Given the description of an element on the screen output the (x, y) to click on. 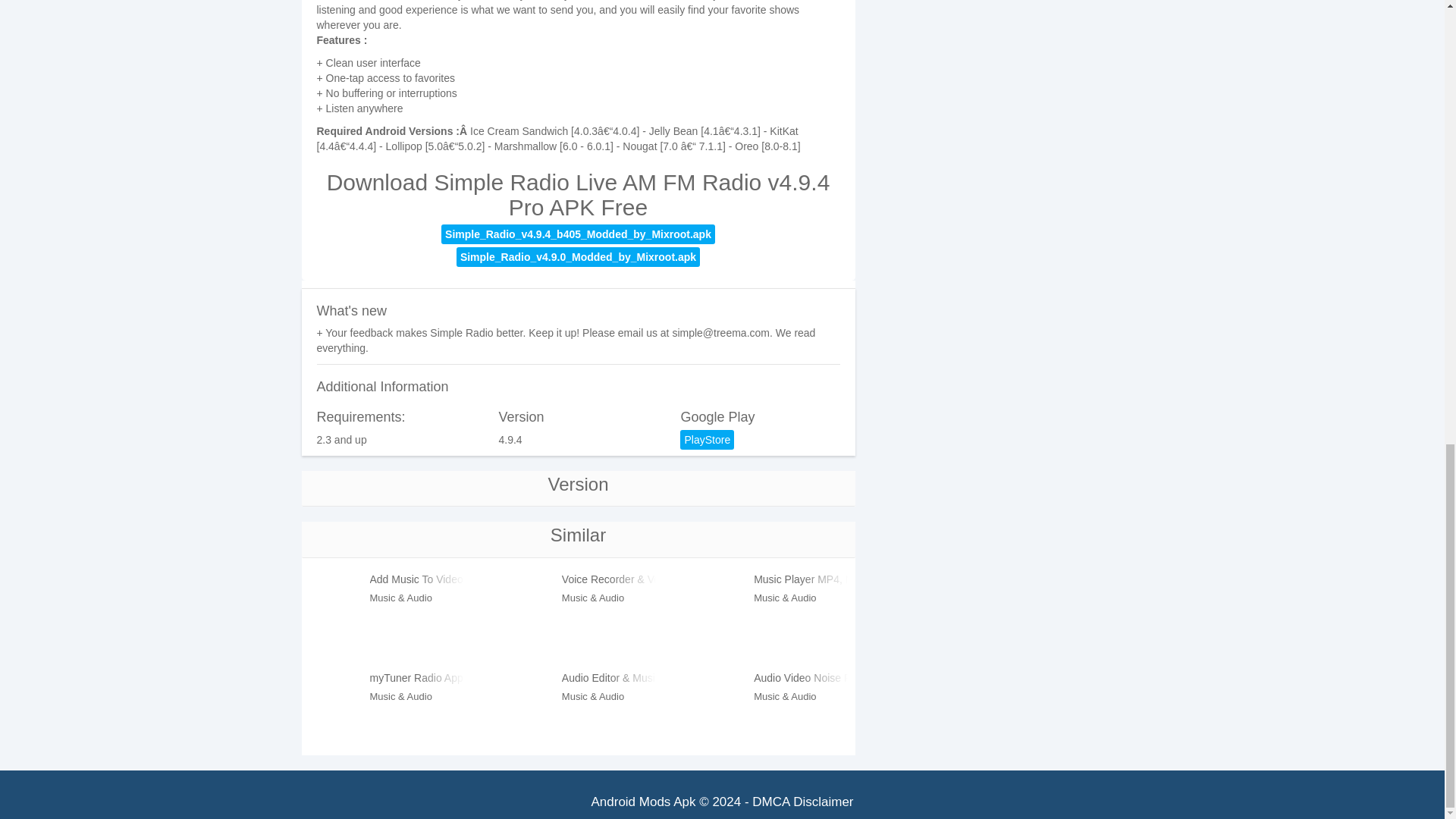
Audio Video Noise Reducer v0.7.0 Pro APK (800, 679)
Music Player  MP4, MP3 Player v9.1.0.299 Premium APK (800, 581)
myTuner Radio App FM stations v8.0.52 Pro APK (416, 679)
